Given the description of an element on the screen output the (x, y) to click on. 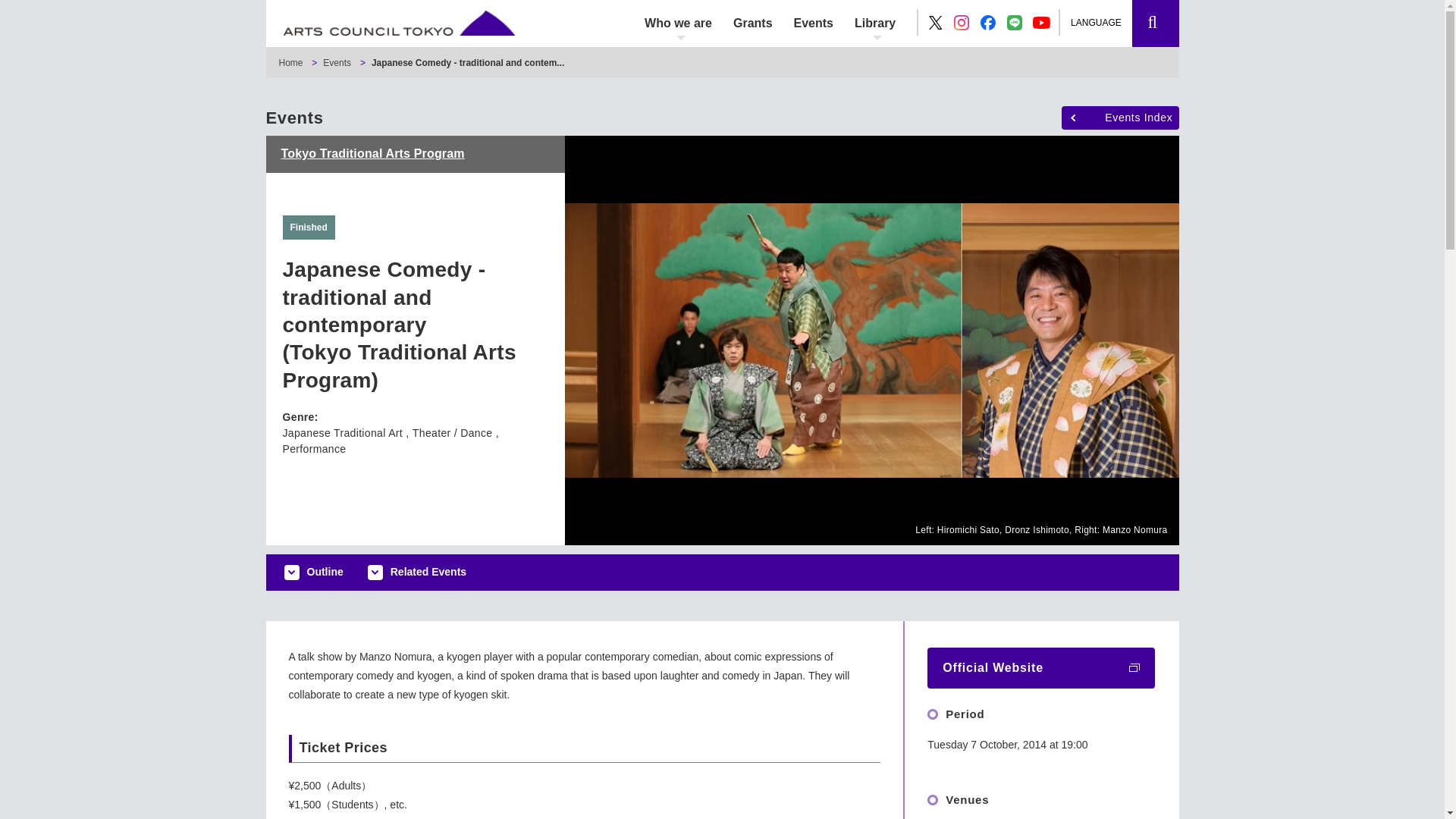
LINE (1014, 22)
YouTube (1040, 22)
Who we are (678, 23)
Instagram (961, 22)
Facebook (987, 22)
X (935, 22)
LANGUAGE (1102, 22)
Facebook (987, 22)
X (935, 21)
YouTube (1041, 22)
